Given the description of an element on the screen output the (x, y) to click on. 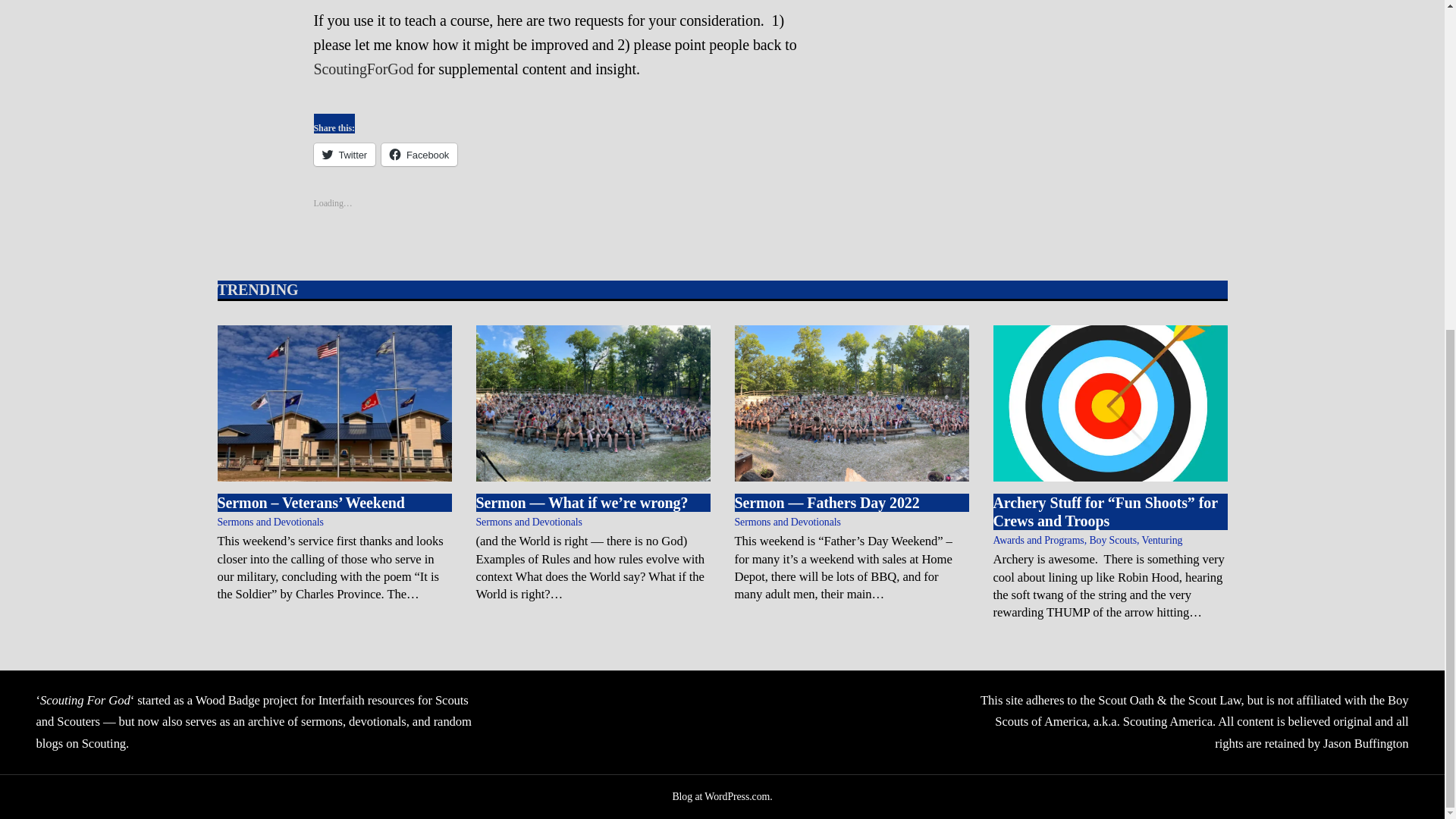
Boy Scouts (1113, 540)
Sermons and Devotionals (529, 521)
Venturing (1161, 540)
ScoutingForGod (363, 68)
Blog at WordPress.com. (721, 796)
Click to share on Twitter (344, 154)
Facebook (419, 154)
Like or Reblog (560, 210)
Sermons and Devotionals (269, 521)
Twitter (344, 154)
Click to share on Facebook (419, 154)
Awards and Programs (1038, 540)
Sermons and Devotionals (786, 521)
